Given the description of an element on the screen output the (x, y) to click on. 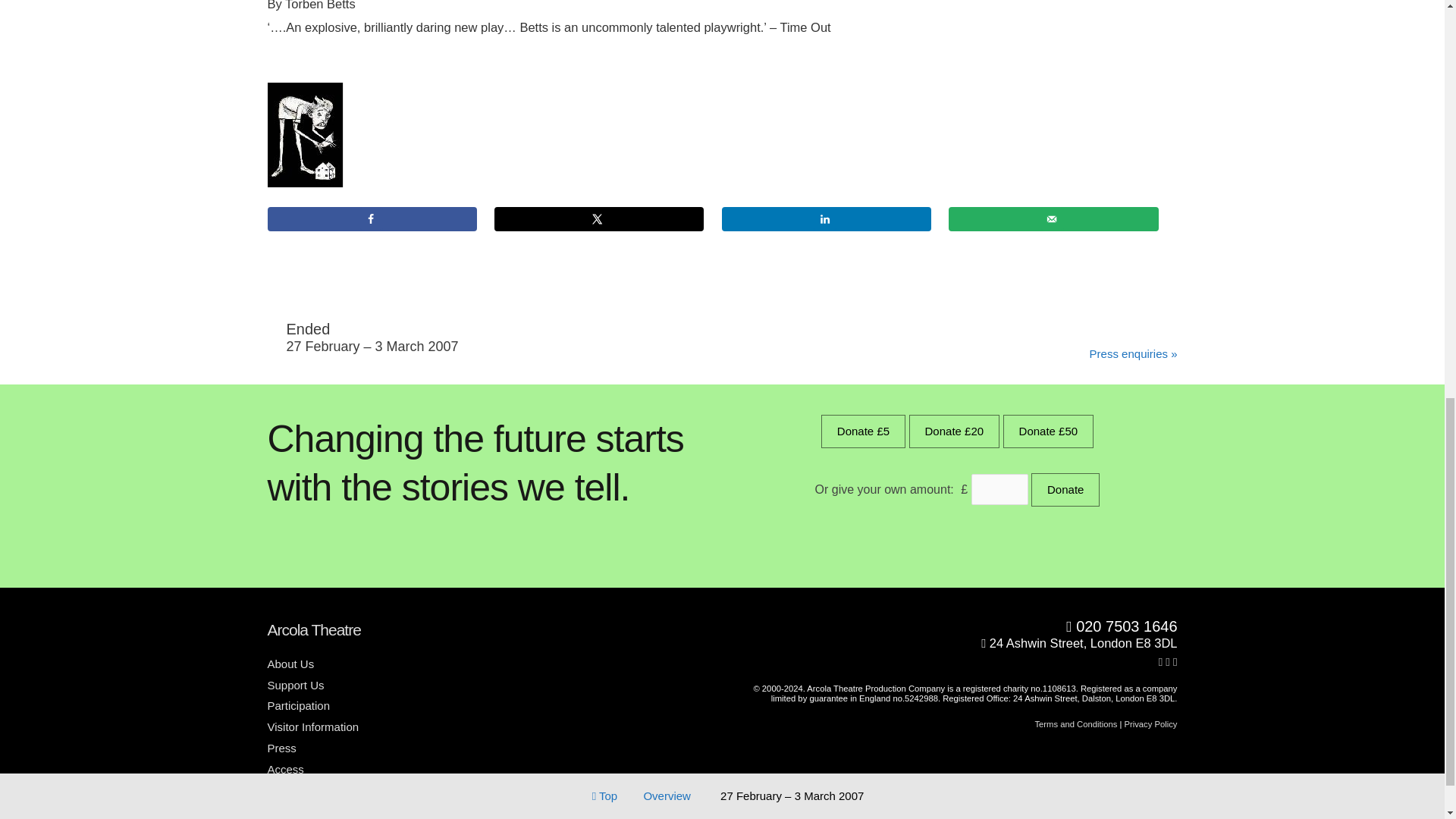
Donate (1064, 489)
About Us (295, 663)
Press (286, 748)
Share on Facebook (371, 218)
Visitor Information (317, 726)
Support Us (300, 684)
Participation (303, 705)
Send over email (1053, 218)
Share on X (599, 218)
Access (290, 768)
Share on LinkedIn (826, 218)
020 7503 1646 (956, 627)
